Given the description of an element on the screen output the (x, y) to click on. 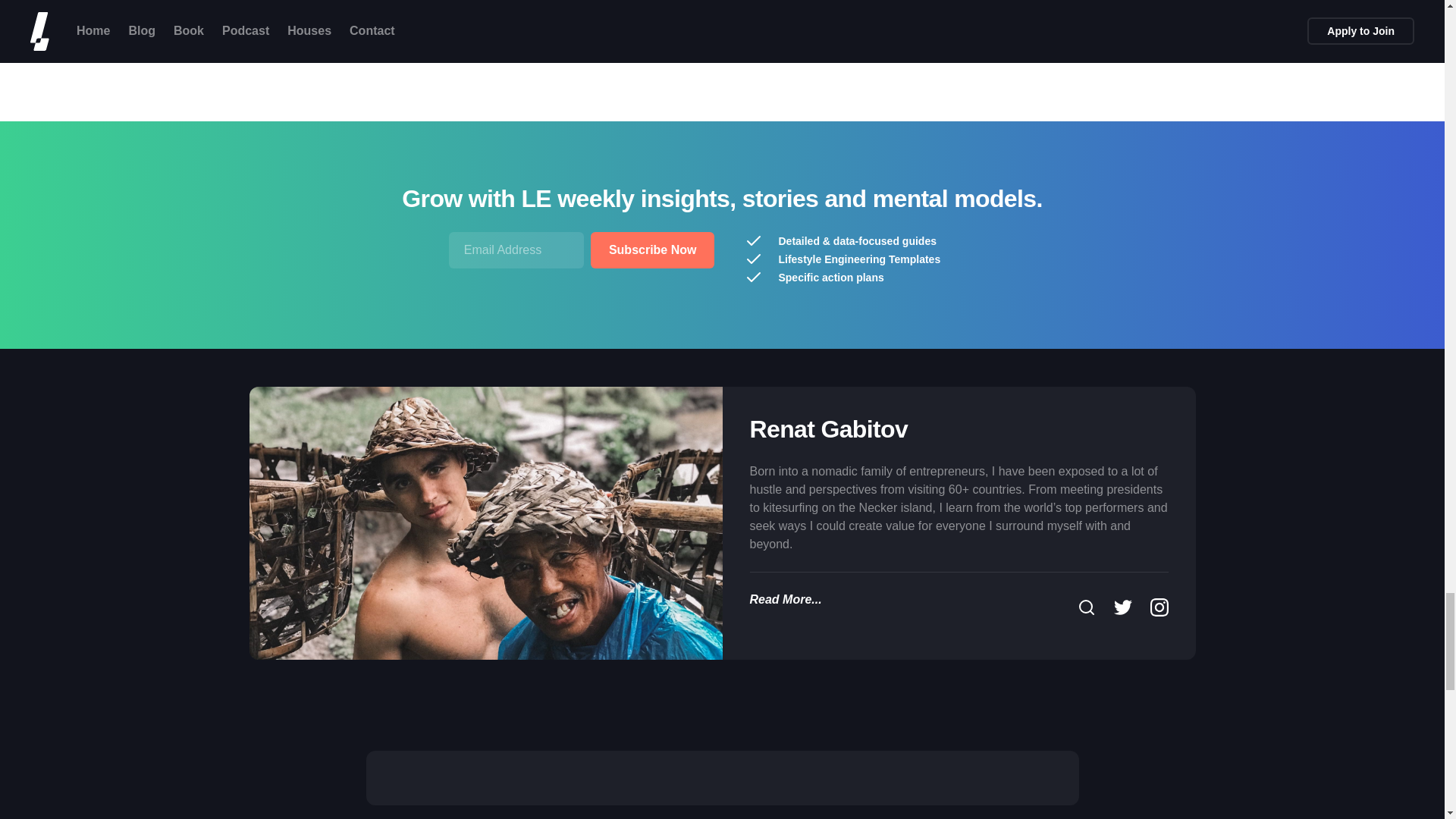
Subscribe Now (652, 249)
Subscribe Now (652, 249)
Read More... (785, 599)
